Given the description of an element on the screen output the (x, y) to click on. 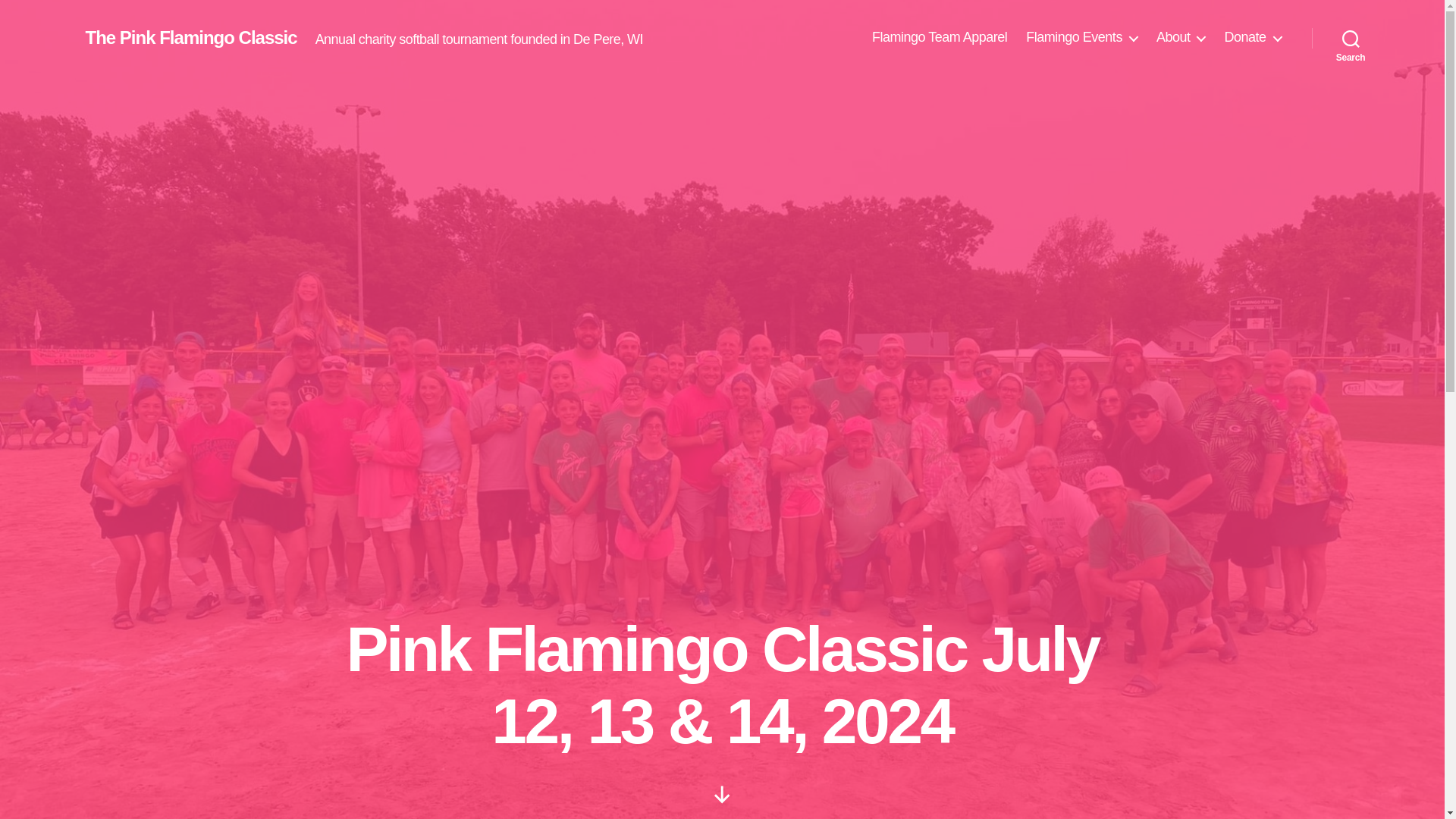
About (1180, 37)
Search (1350, 37)
Flamingo Team Apparel (939, 37)
Flamingo Events (1081, 37)
Donate (1252, 37)
The Pink Flamingo Classic (190, 37)
